Given the description of an element on the screen output the (x, y) to click on. 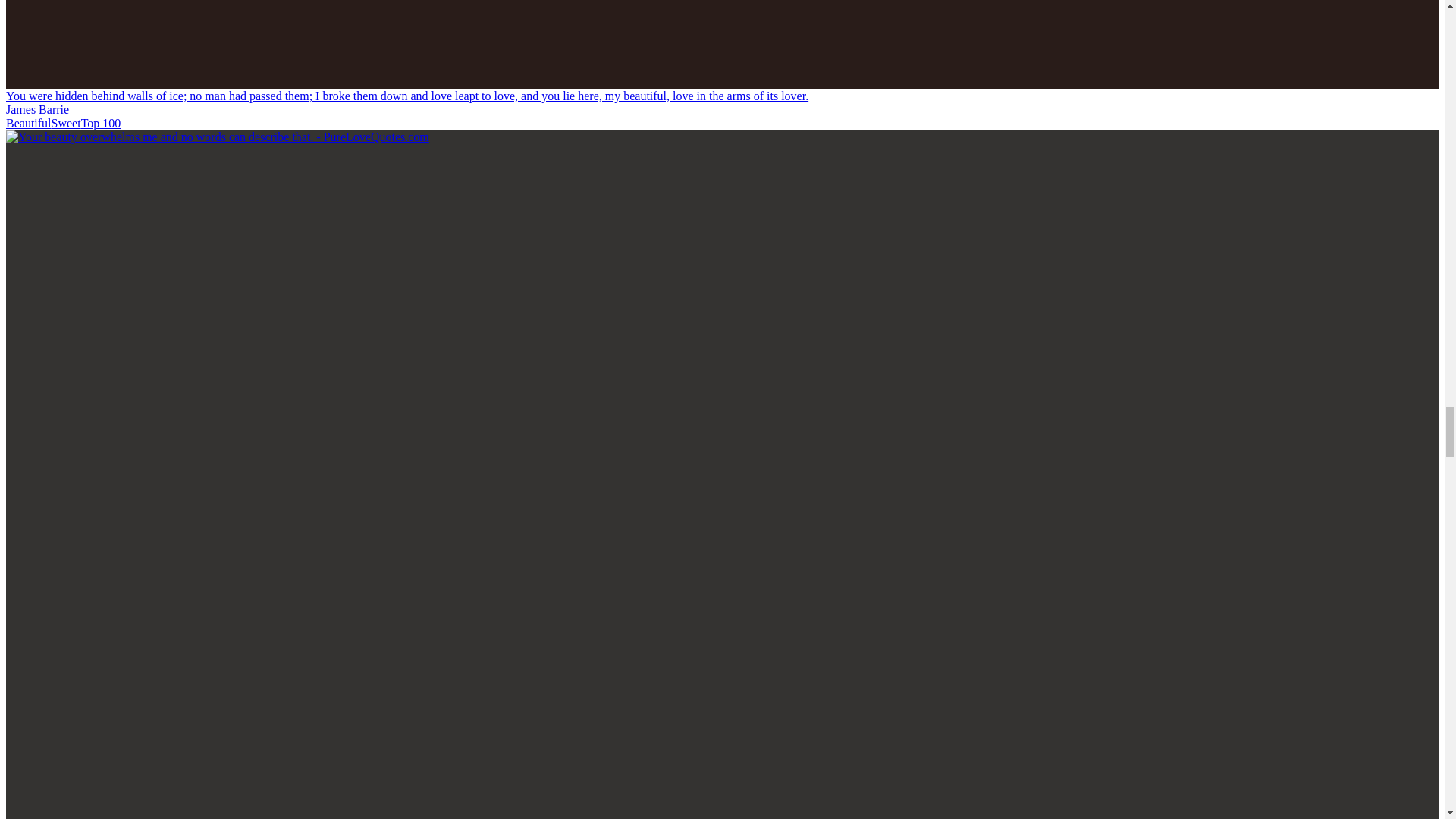
see quote (217, 136)
see quote (406, 95)
